Given the description of an element on the screen output the (x, y) to click on. 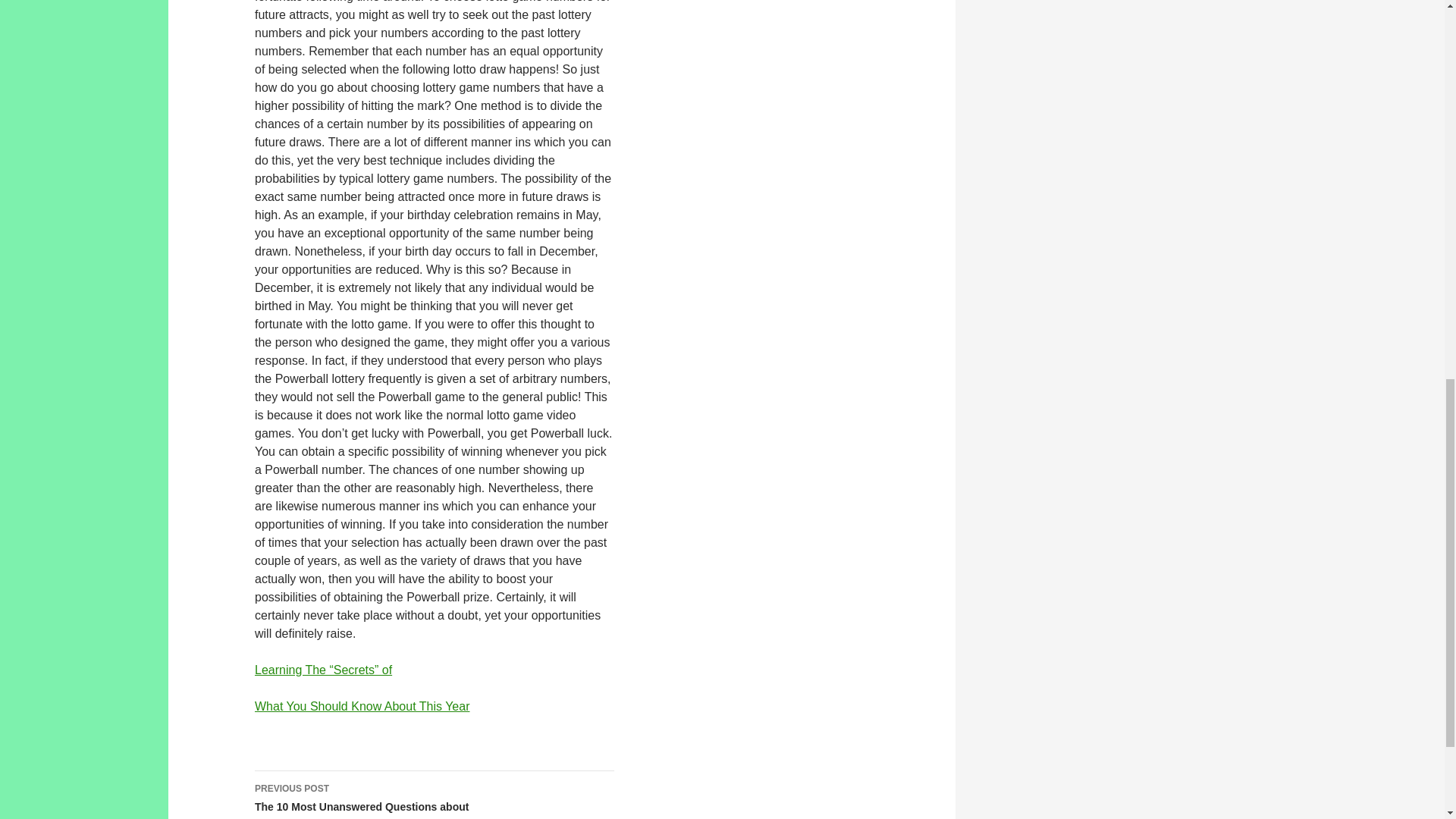
What You Should Know About This Year (361, 706)
